Given the description of an element on the screen output the (x, y) to click on. 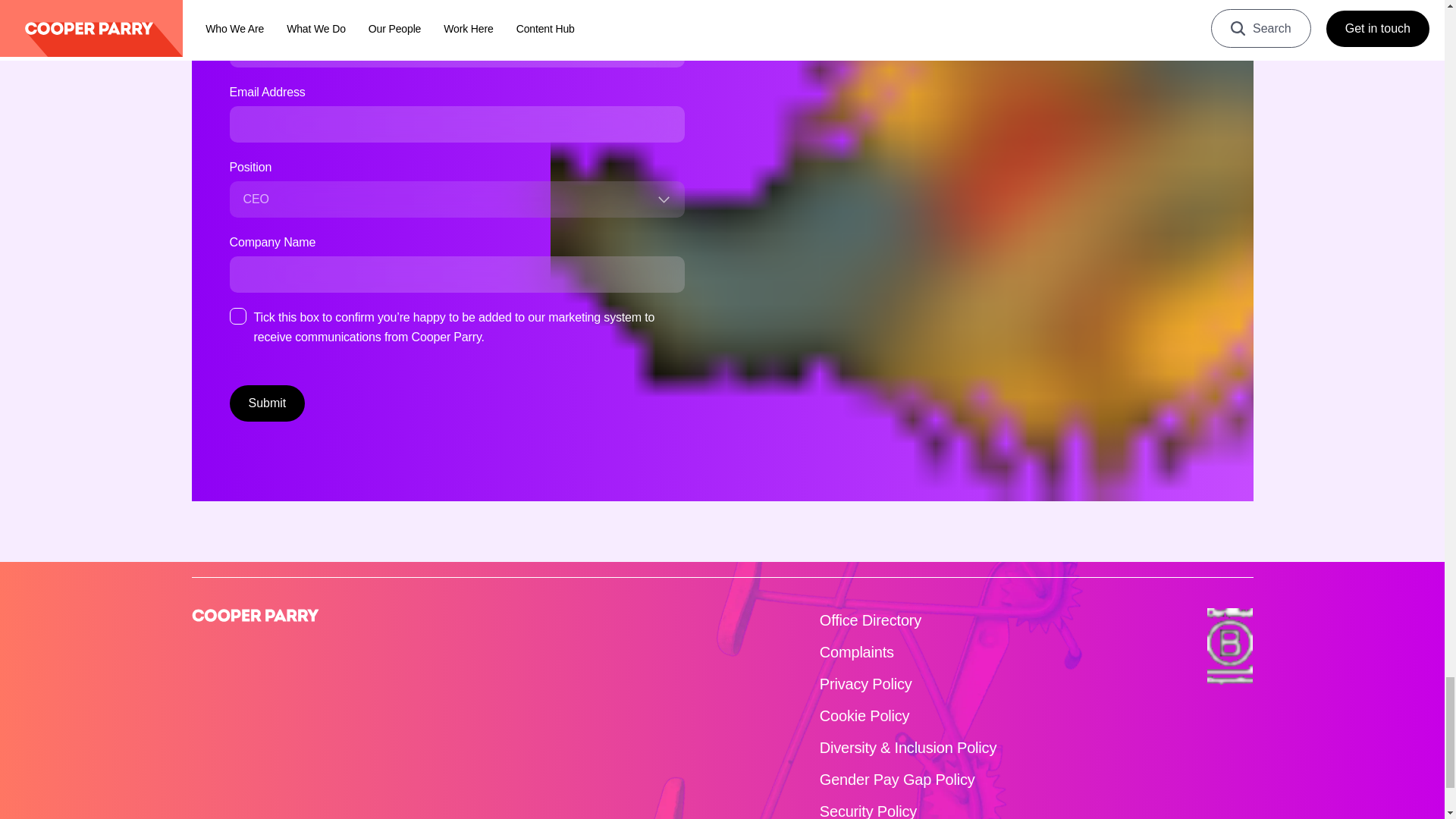
Submit (266, 402)
on (237, 315)
